Given the description of an element on the screen output the (x, y) to click on. 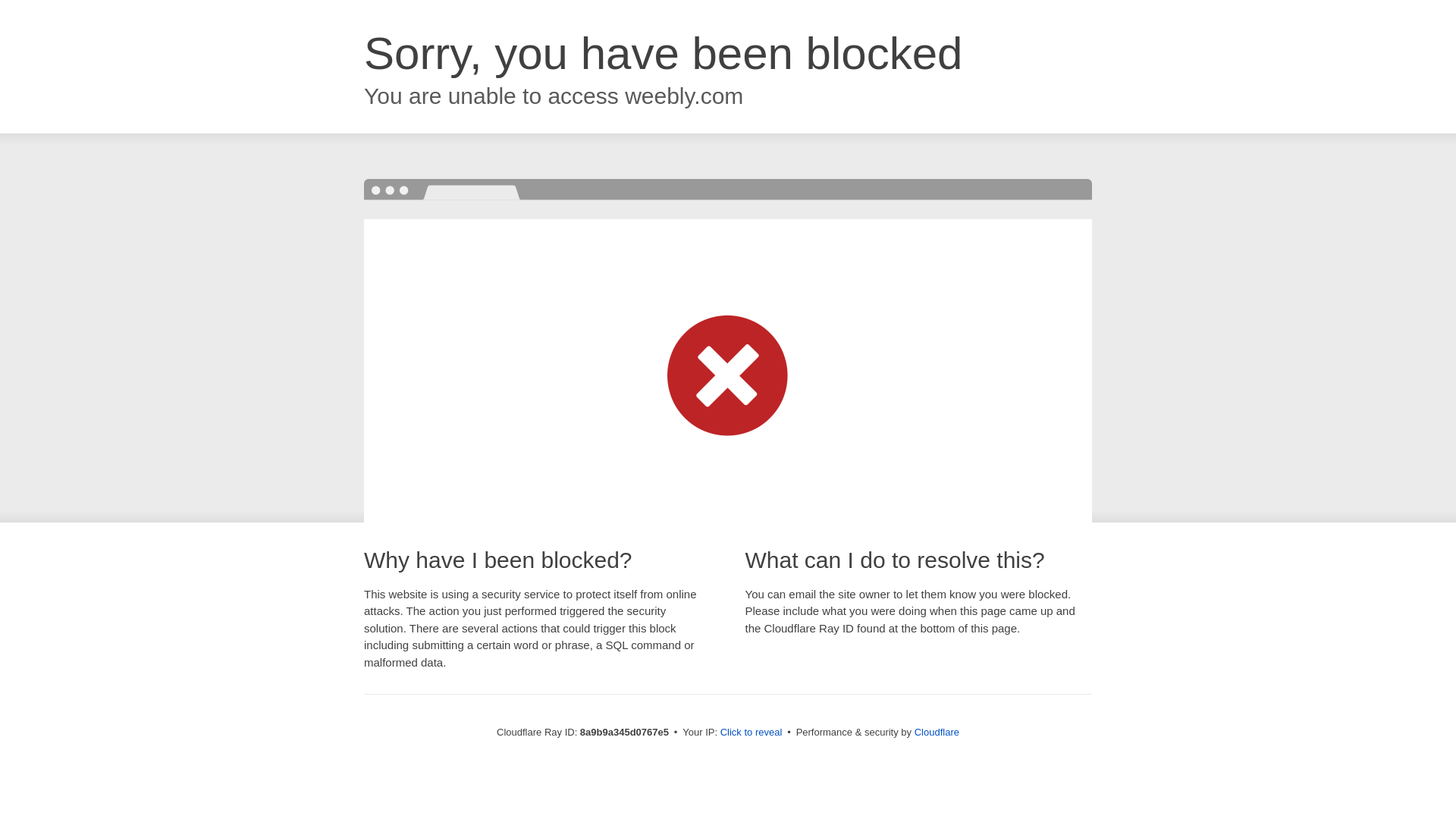
Click to reveal (751, 732)
Cloudflare (936, 731)
